Given the description of an element on the screen output the (x, y) to click on. 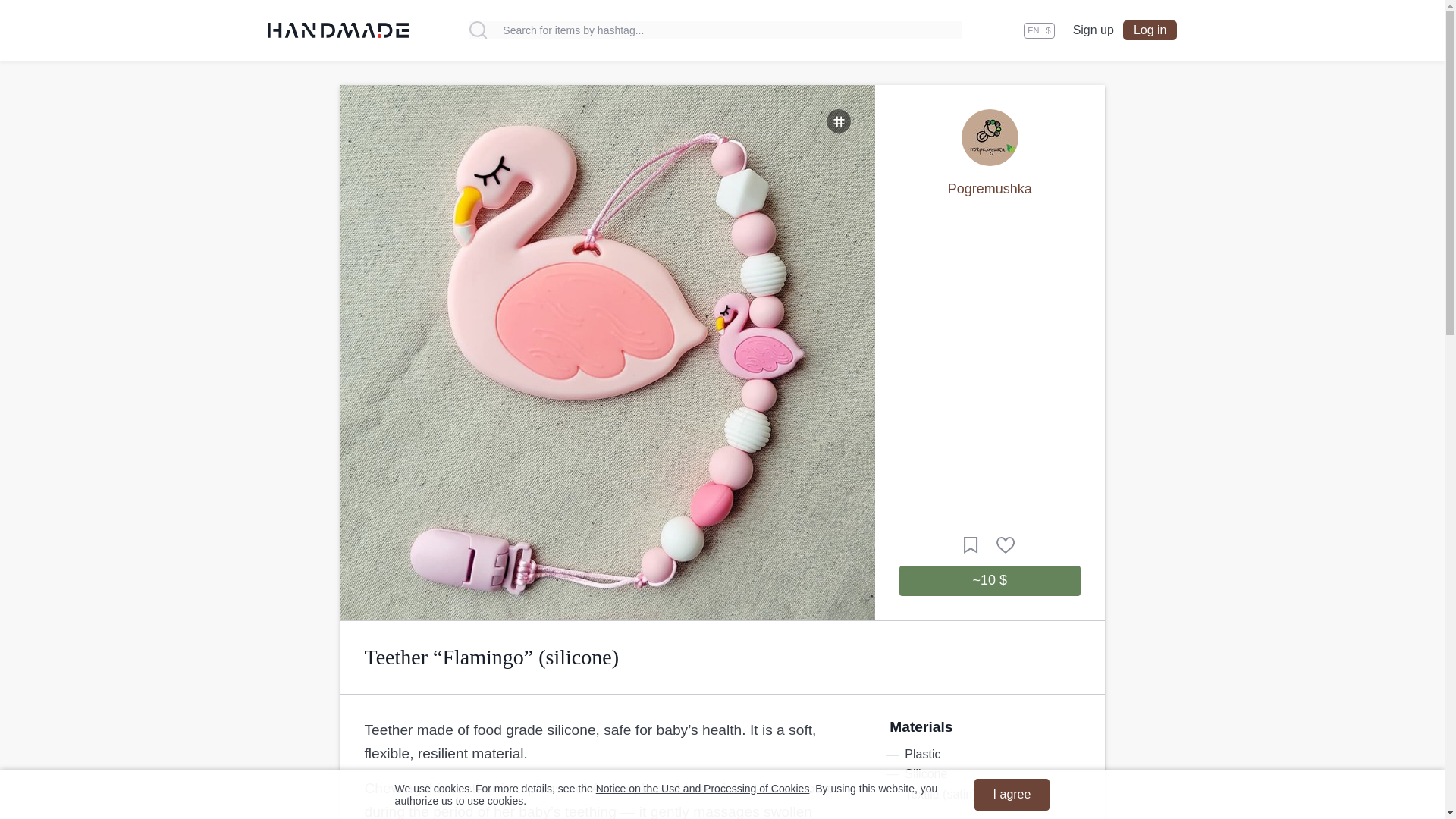
Pogremushka (989, 188)
HANDMADE Logo (336, 29)
In stock. Proceed to checkout (989, 580)
Notice on the Use and Processing of Cookies (702, 788)
I agree (1011, 794)
Select language and currency (1038, 30)
Like (1004, 545)
